Given the description of an element on the screen output the (x, y) to click on. 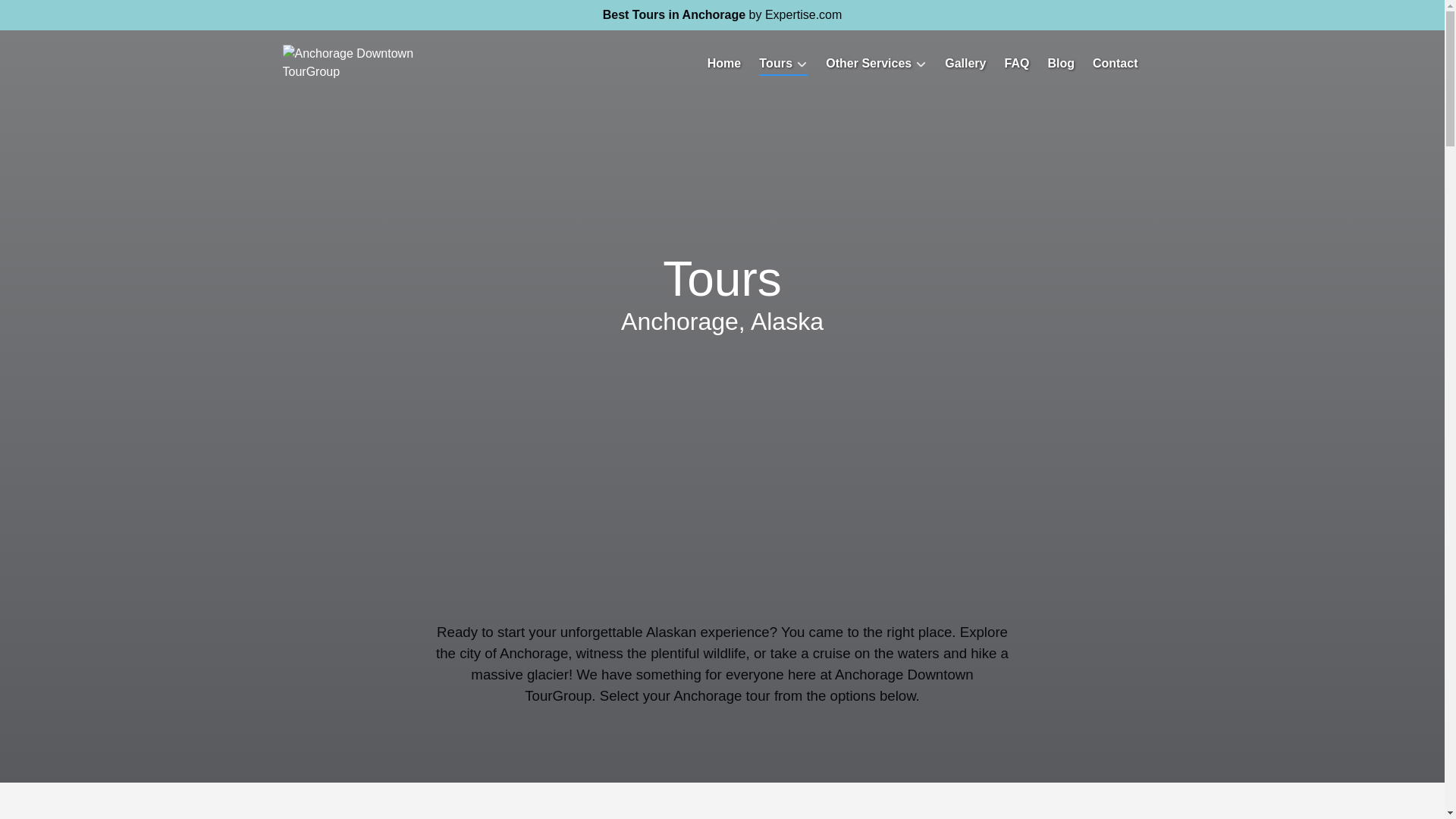
Home (723, 63)
Open Other Services Menu (880, 59)
Contact (1115, 63)
Blog (1060, 63)
Gallery (965, 63)
FAQ (1016, 63)
Open Tours Menu (786, 59)
Other Services (876, 63)
Skip to footer (42, 16)
Skip to primary navigation (77, 16)
